Given the description of an element on the screen output the (x, y) to click on. 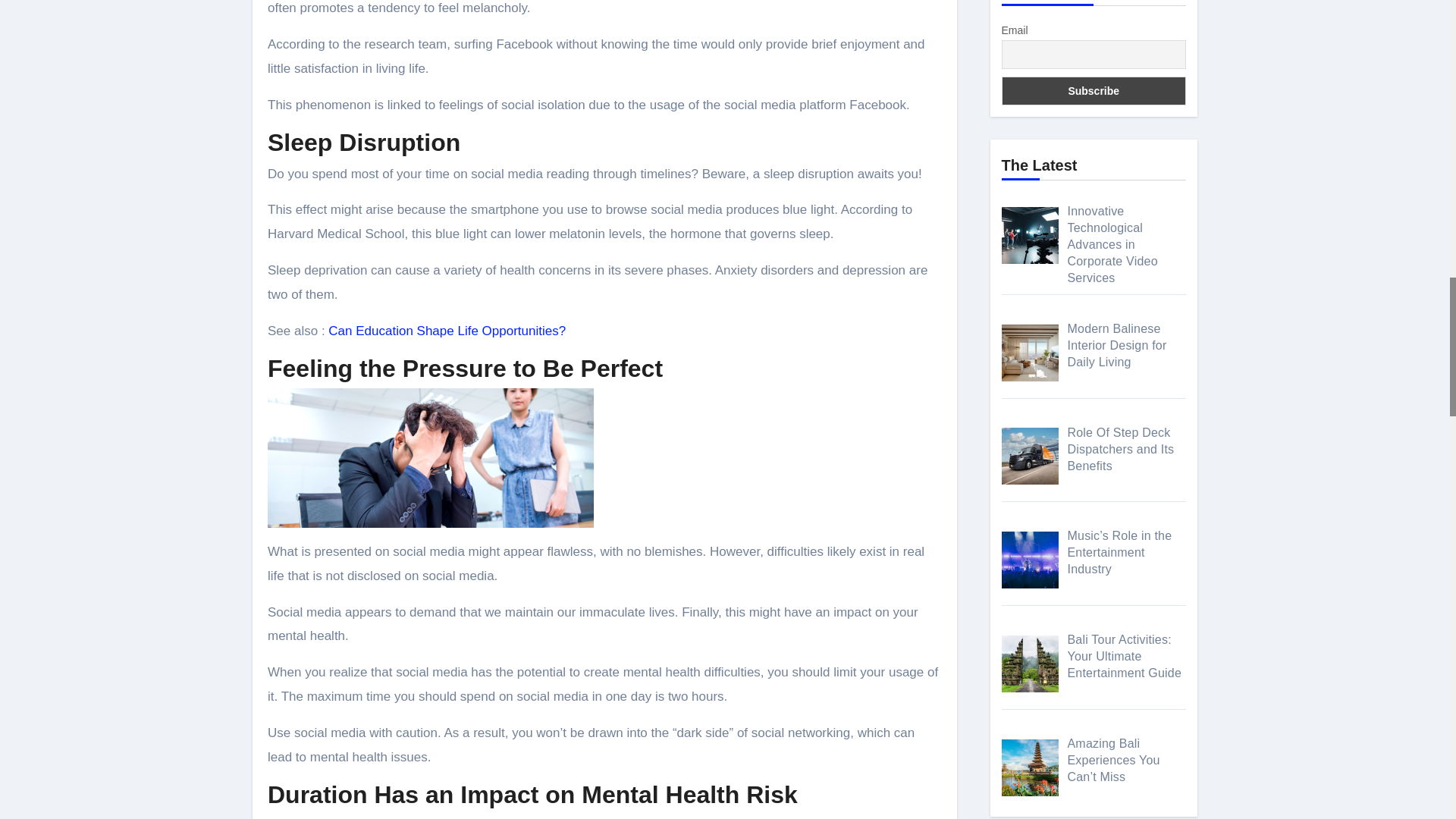
Subscribe (1093, 90)
Can Education Shape Life Opportunities? (447, 330)
